Given the description of an element on the screen output the (x, y) to click on. 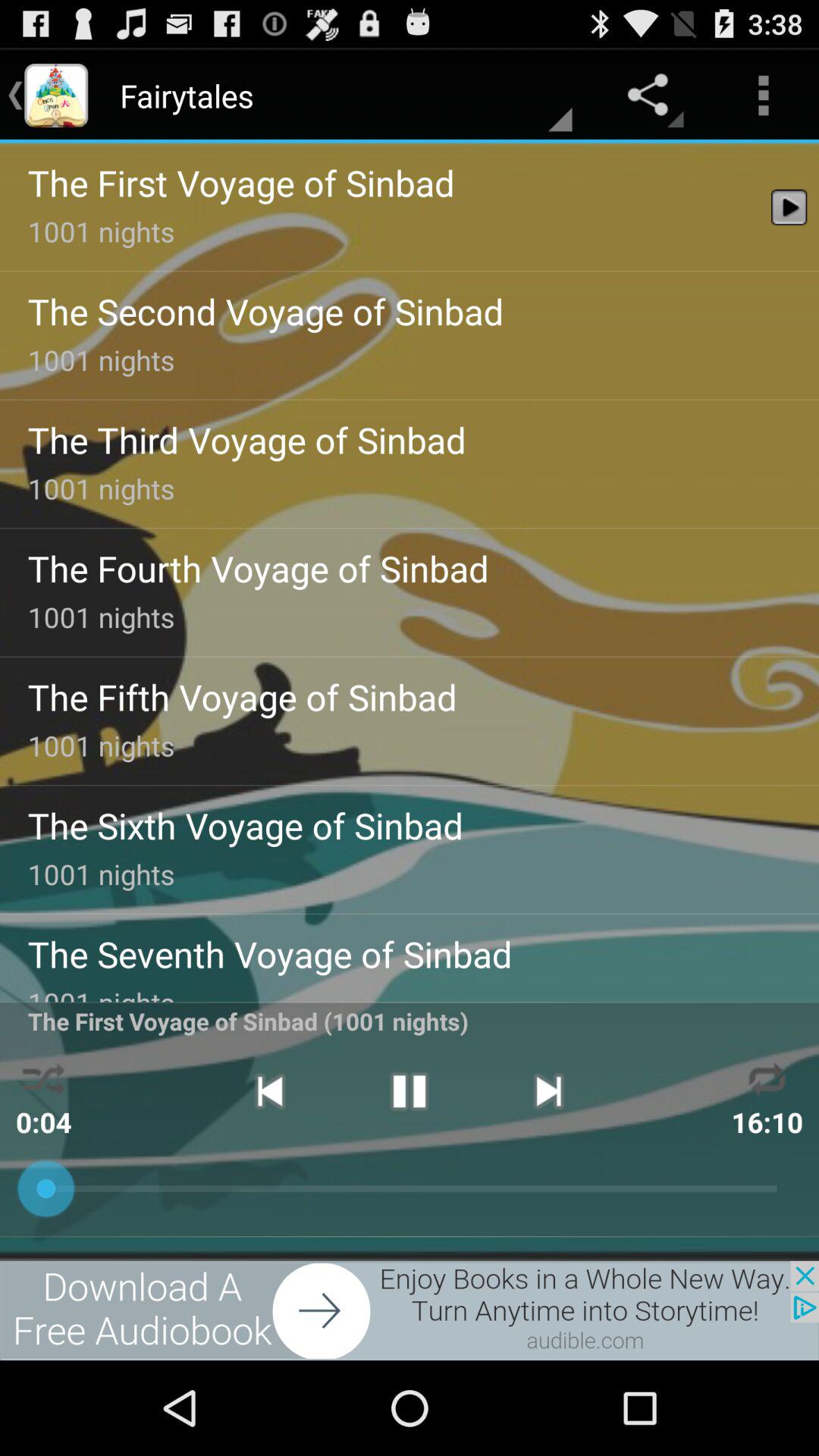
open advertisement (409, 1310)
